Given the description of an element on the screen output the (x, y) to click on. 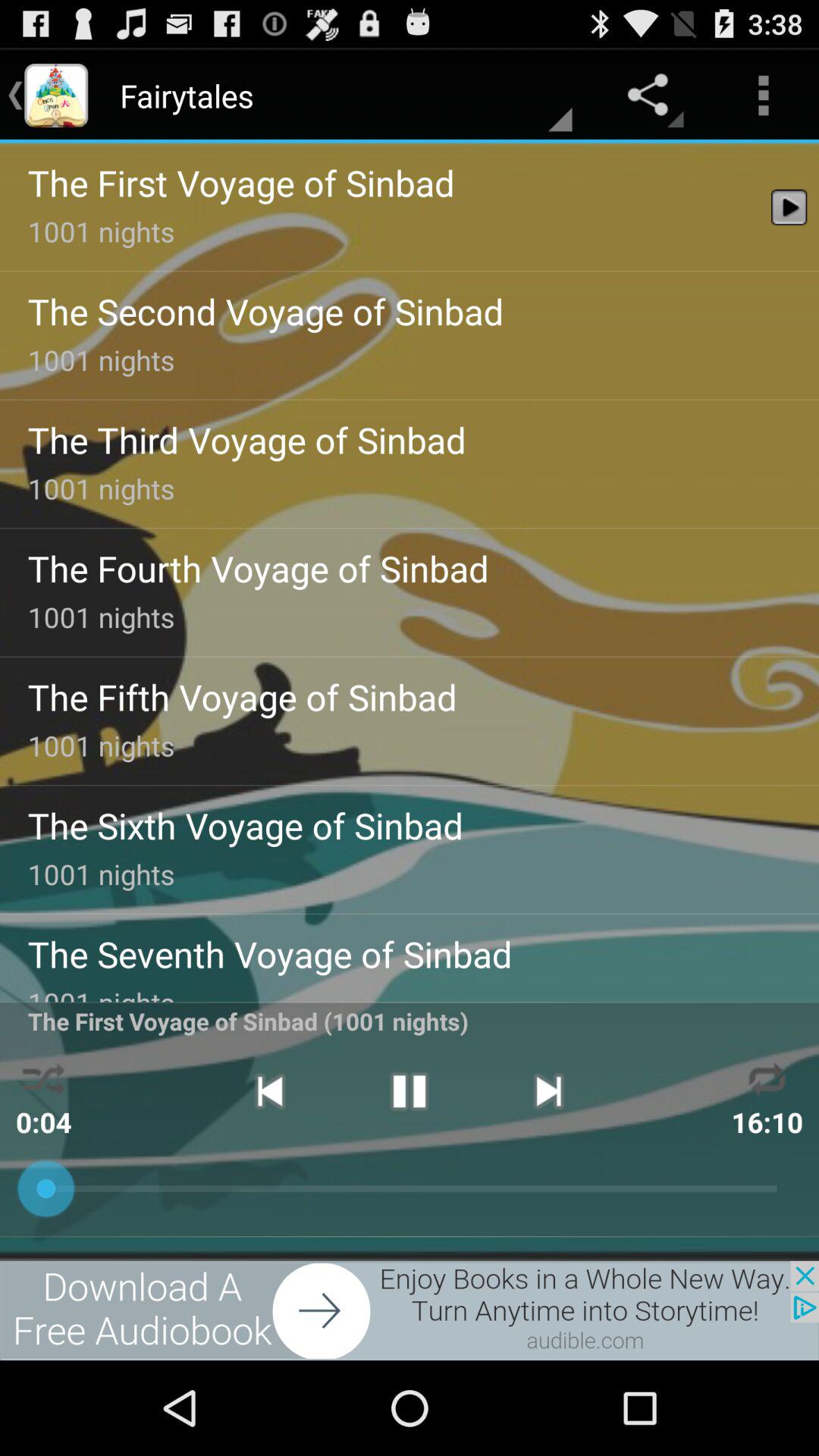
open advertisement (409, 1310)
